Given the description of an element on the screen output the (x, y) to click on. 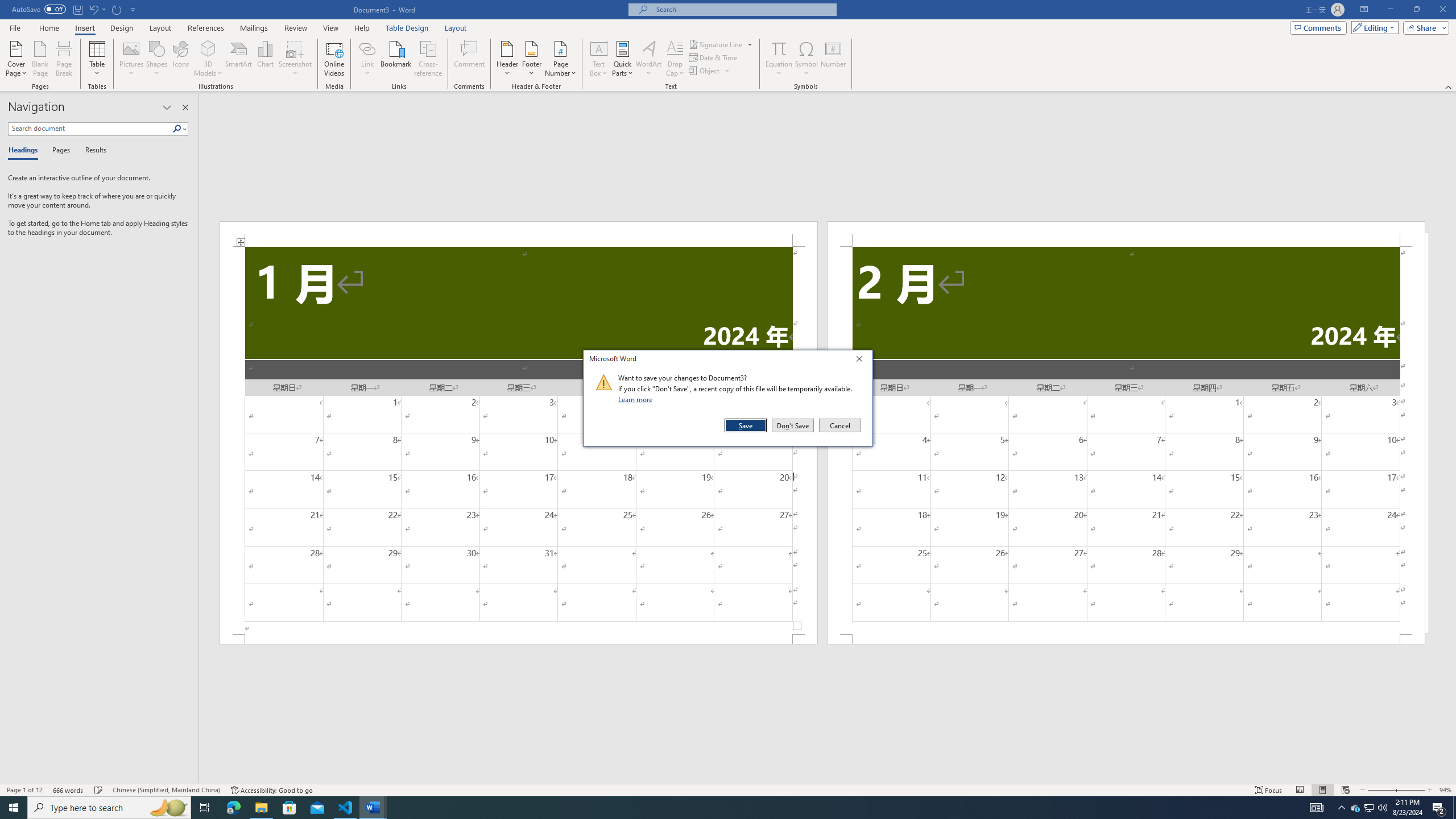
Link (367, 48)
Comment (469, 58)
Mode (1372, 27)
User Promoted Notification Area (1368, 807)
Undo Increase Indent (92, 9)
3D Models (208, 58)
Page Break (63, 58)
Search highlights icon opens search home window (167, 807)
Repeat Doc Close (117, 9)
